Given the description of an element on the screen output the (x, y) to click on. 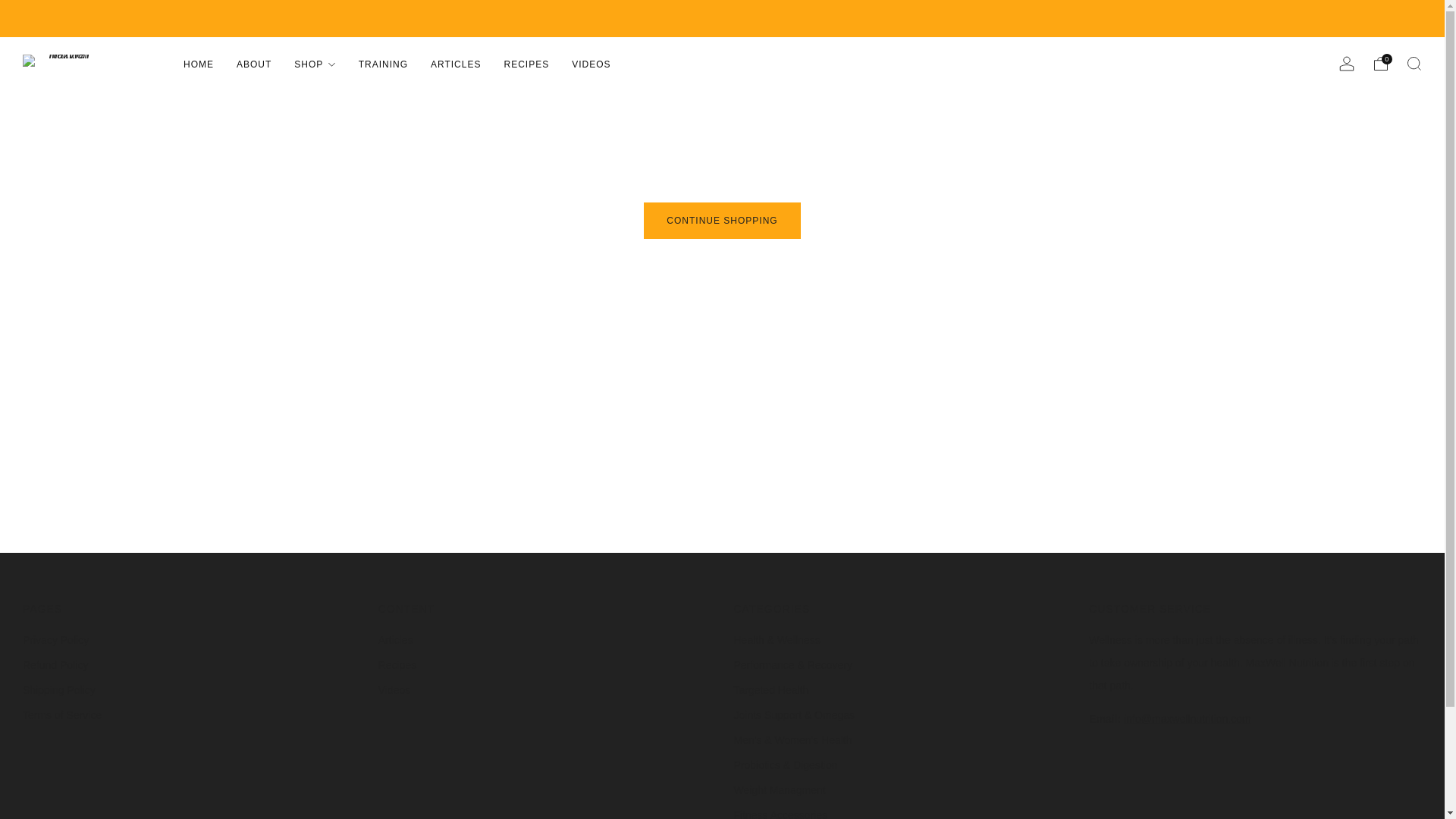
0 (1381, 63)
VIDEOS (591, 64)
HOME (198, 64)
TRAINING (382, 64)
ARTICLES (455, 64)
ABOUT (252, 64)
RECIPES (525, 64)
SHOP (314, 64)
Email (1187, 718)
